Given the description of an element on the screen output the (x, y) to click on. 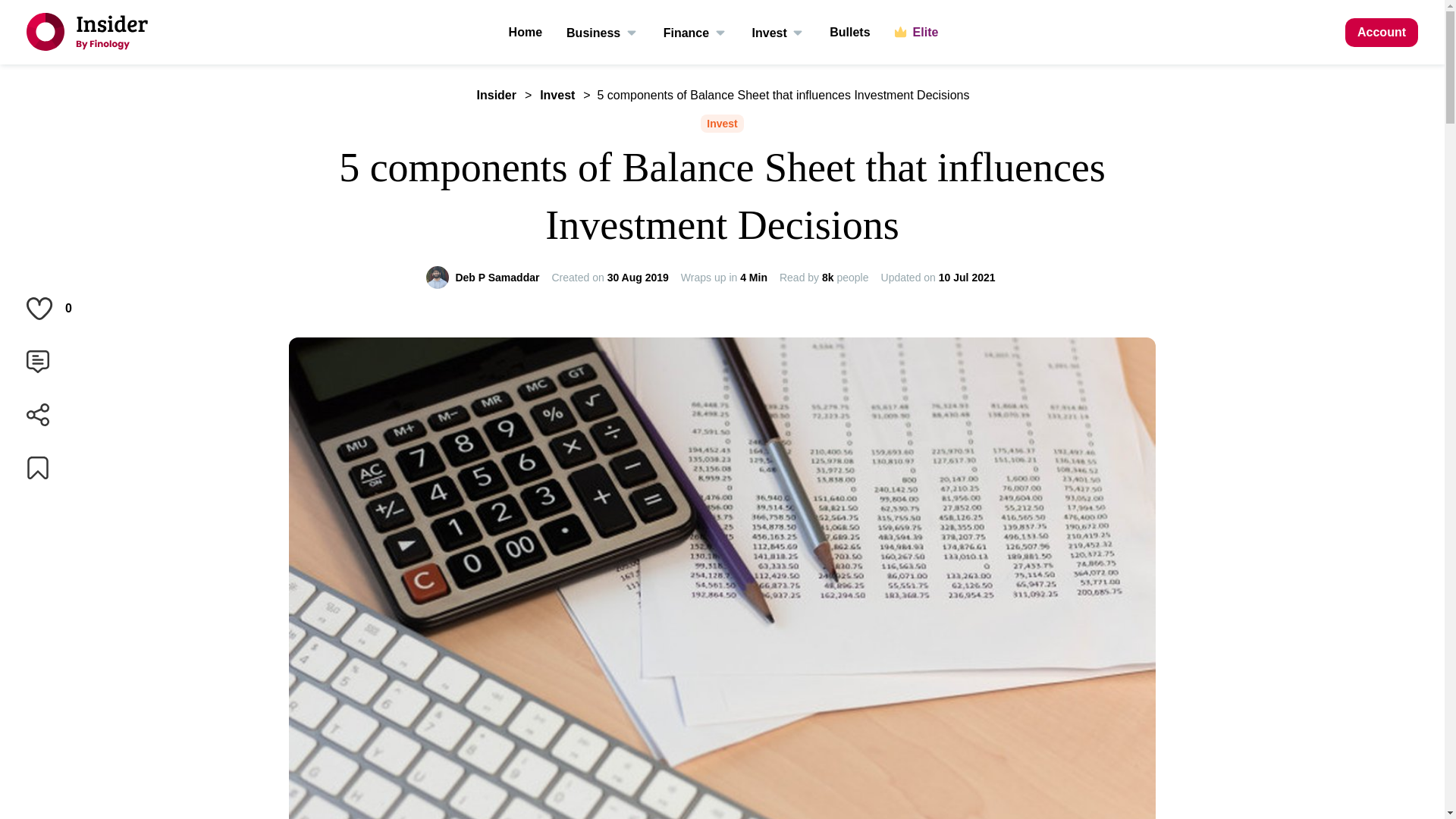
Finance (695, 31)
Account (1381, 32)
Invest (779, 31)
Elite (917, 32)
Bullets (849, 31)
Home (524, 31)
Business (602, 31)
